Given the description of an element on the screen output the (x, y) to click on. 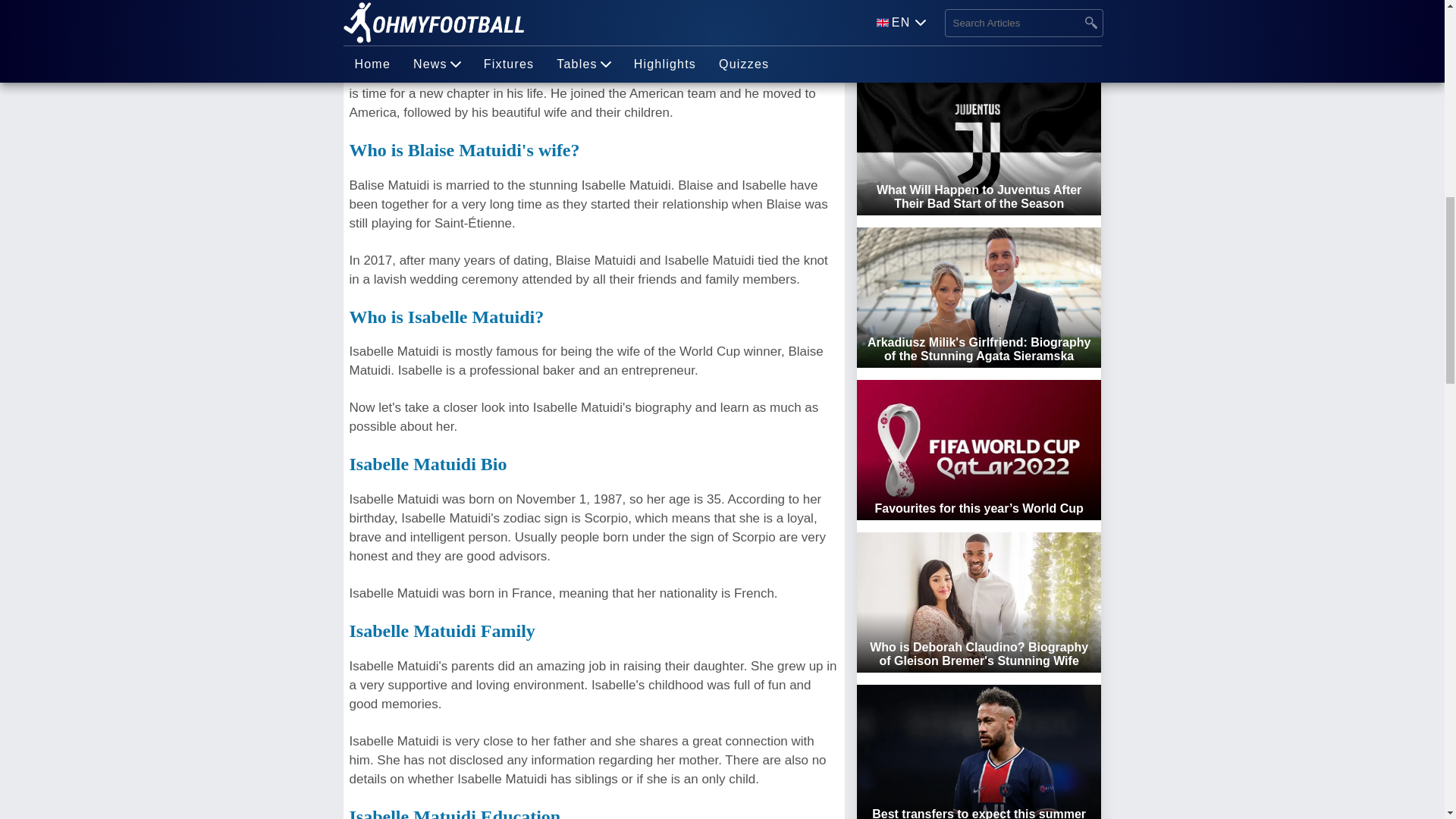
Who is Blaise Matuidi's wife? (464, 149)
Isabelle Matuidi Education (454, 812)
Who is Isabelle Matuidi? (446, 316)
Isabelle Matuidi Family (441, 630)
Isabelle Matuidi Bio (427, 464)
